Given the description of an element on the screen output the (x, y) to click on. 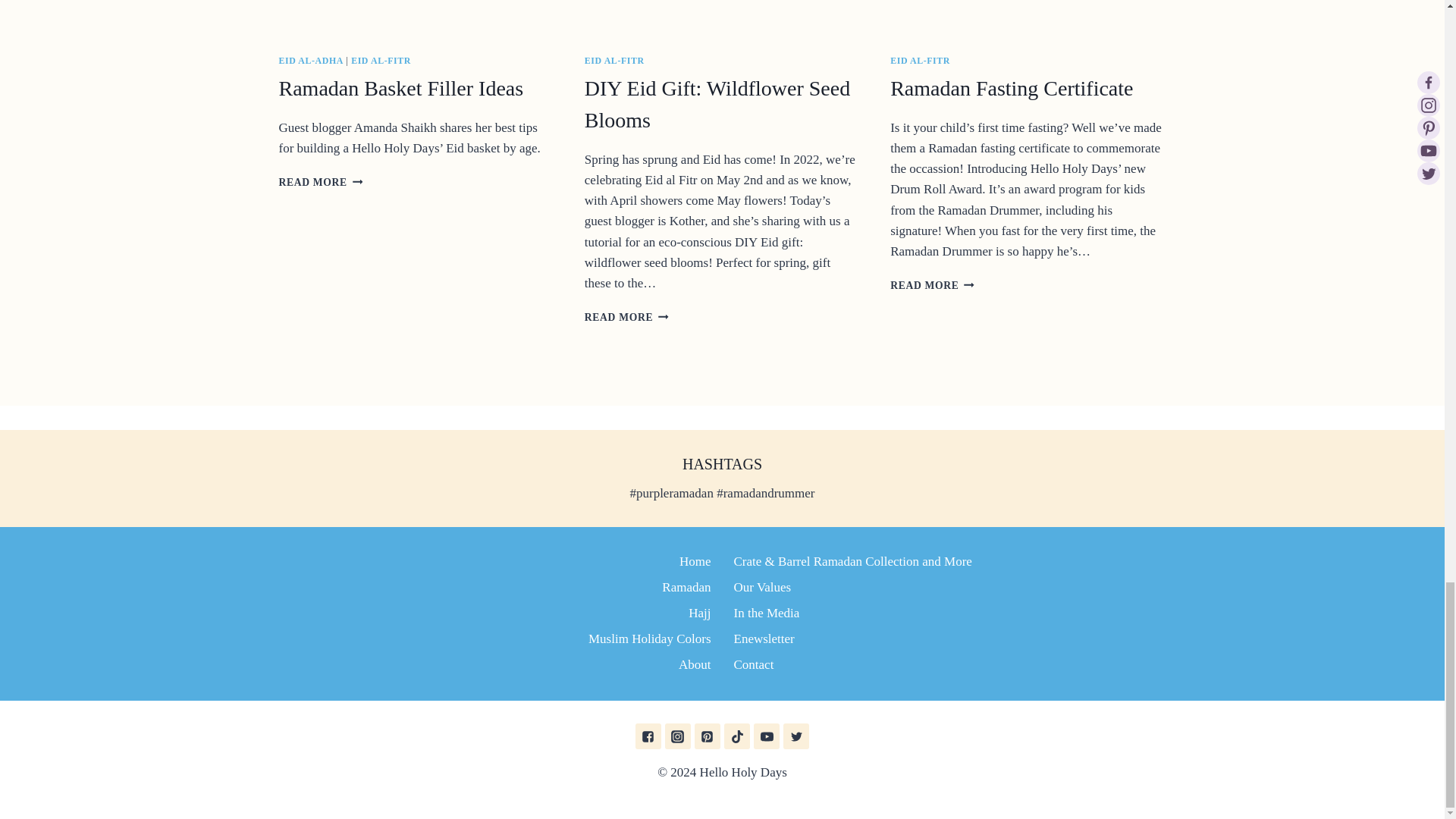
EID AL-FITR (380, 60)
Ramadan Basket Filler Ideas (401, 87)
Ramadan Fasting Certificate (1010, 87)
EID AL-ADHA (311, 60)
DIY Eid Gift: Wildflower Seed Blooms (717, 103)
EID AL-FITR (919, 60)
EID AL-FITR (931, 285)
